Given the description of an element on the screen output the (x, y) to click on. 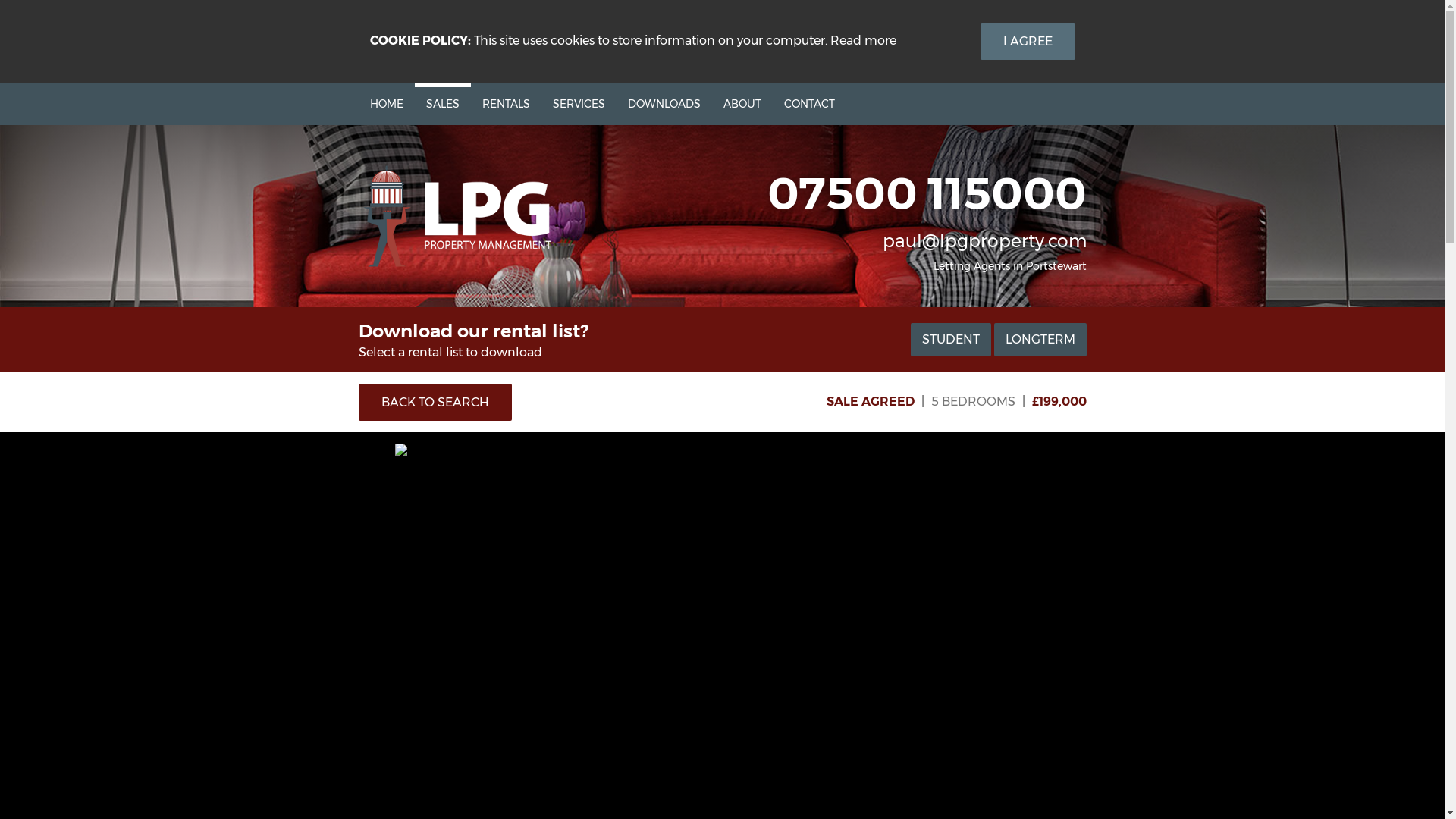
BACK TO SEARCH (434, 402)
SALES (441, 103)
RENTALS (505, 103)
LONGTERM (1039, 339)
ABOUT (741, 103)
HOME (385, 103)
CONTACT (808, 103)
07500 115000 (926, 193)
Read more (862, 40)
DOWNLOADS (663, 103)
SERVICES (578, 103)
STUDENT (950, 339)
I AGREE (1026, 40)
